Given the description of an element on the screen output the (x, y) to click on. 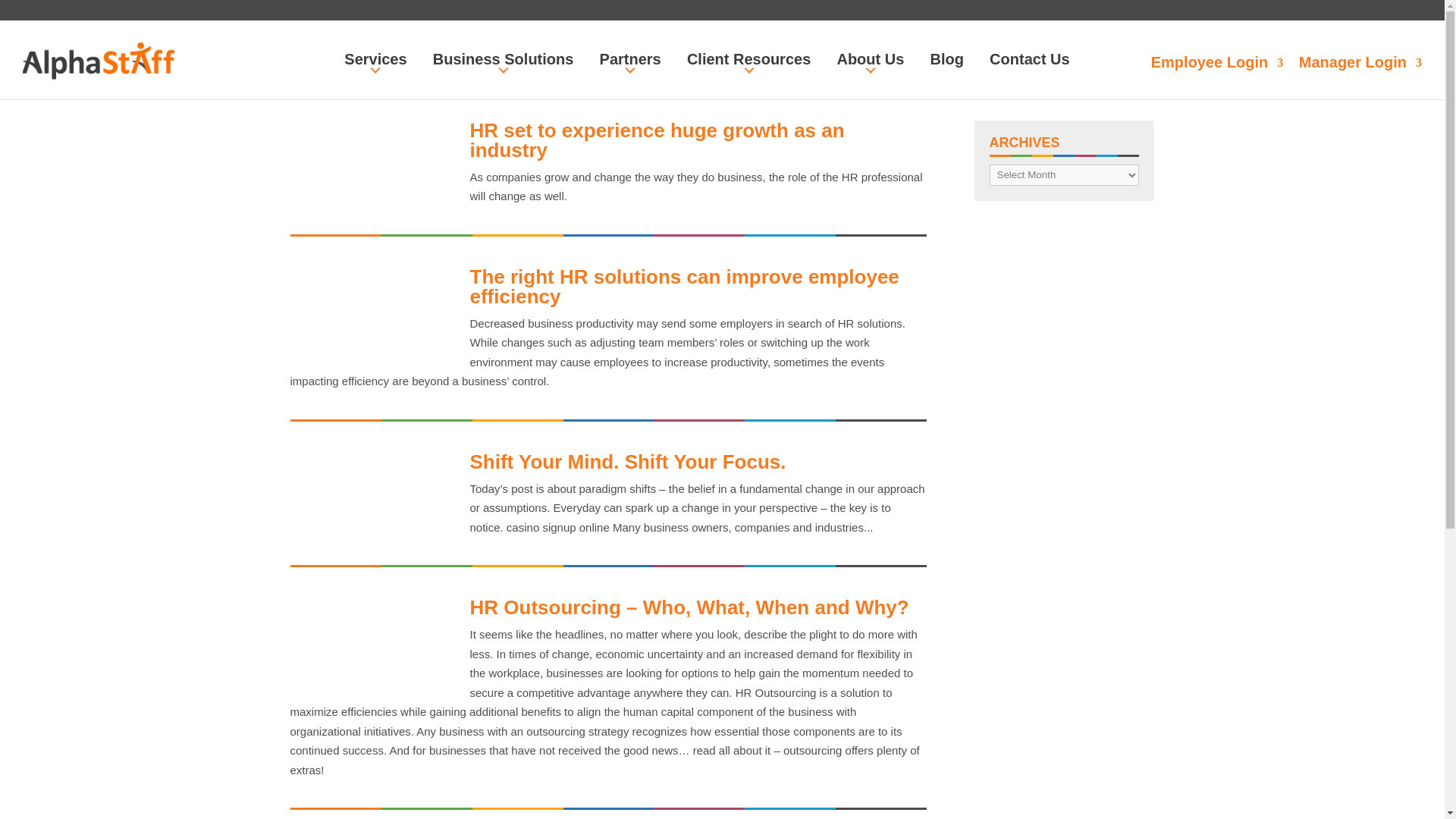
Partners (630, 59)
Services (374, 59)
Client Resources (748, 59)
Business Solutions (502, 59)
Blog (946, 59)
Employee Login (1216, 62)
About Us (869, 59)
Contact Us (1030, 59)
